Given the description of an element on the screen output the (x, y) to click on. 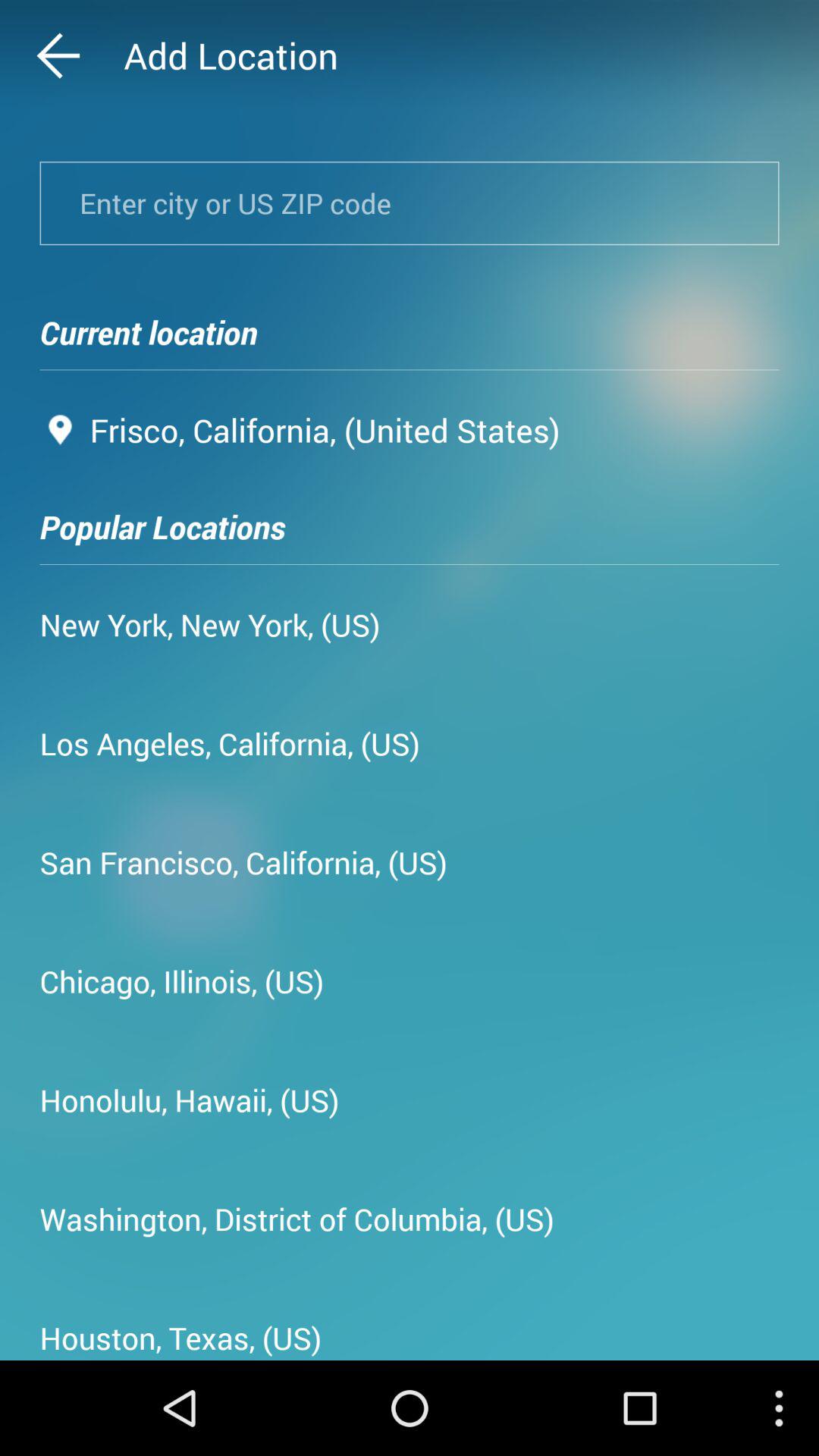
jump to san francisco california (243, 861)
